Given the description of an element on the screen output the (x, y) to click on. 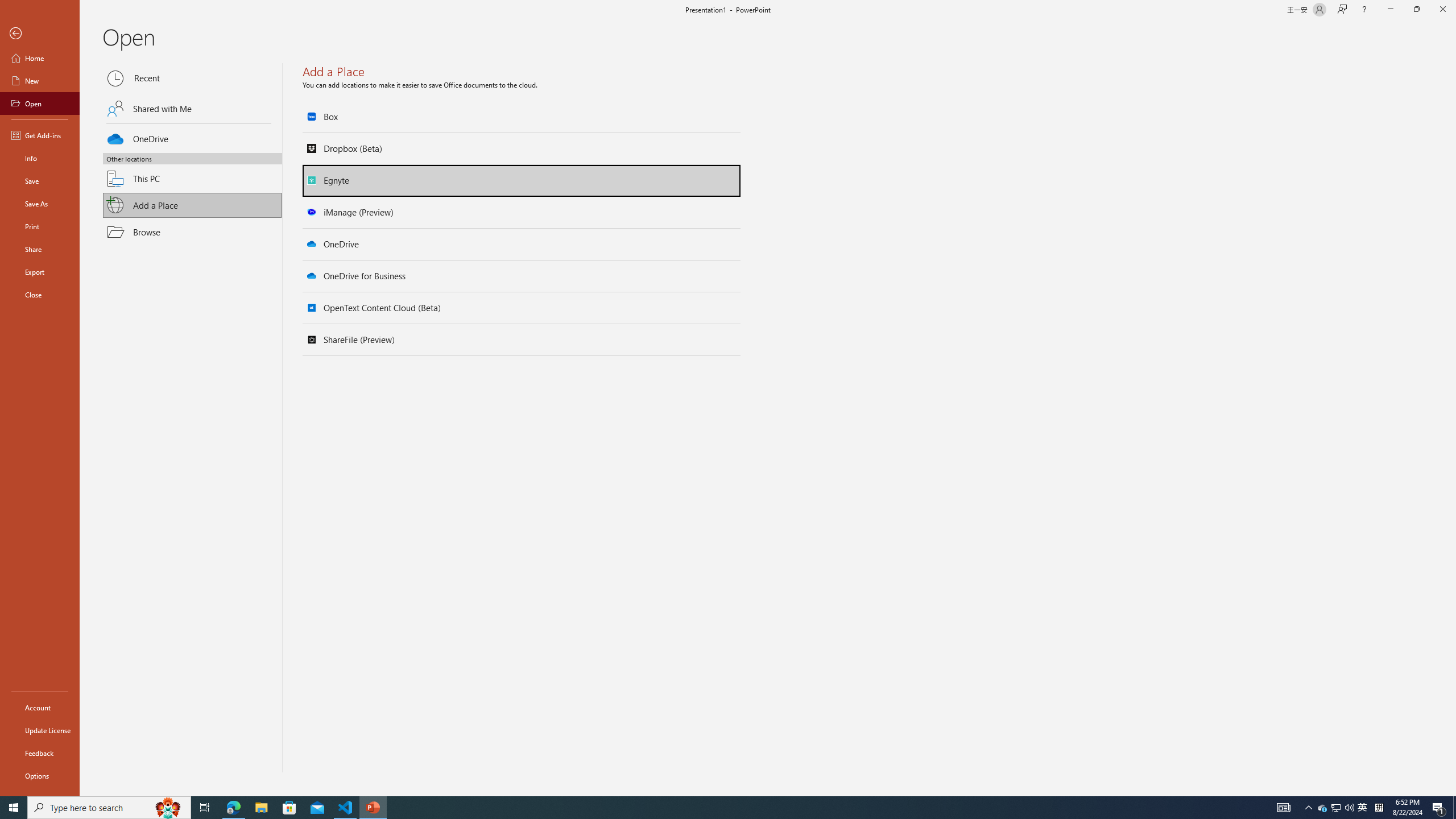
OpenText Content Cloud (Beta) (521, 308)
iManage (Preview) (521, 212)
Egnyte (521, 180)
OneDrive (521, 244)
Feedback (40, 753)
ShareFile (Preview) (521, 340)
Shared with Me (192, 108)
Options (40, 775)
Recent (192, 78)
